Given the description of an element on the screen output the (x, y) to click on. 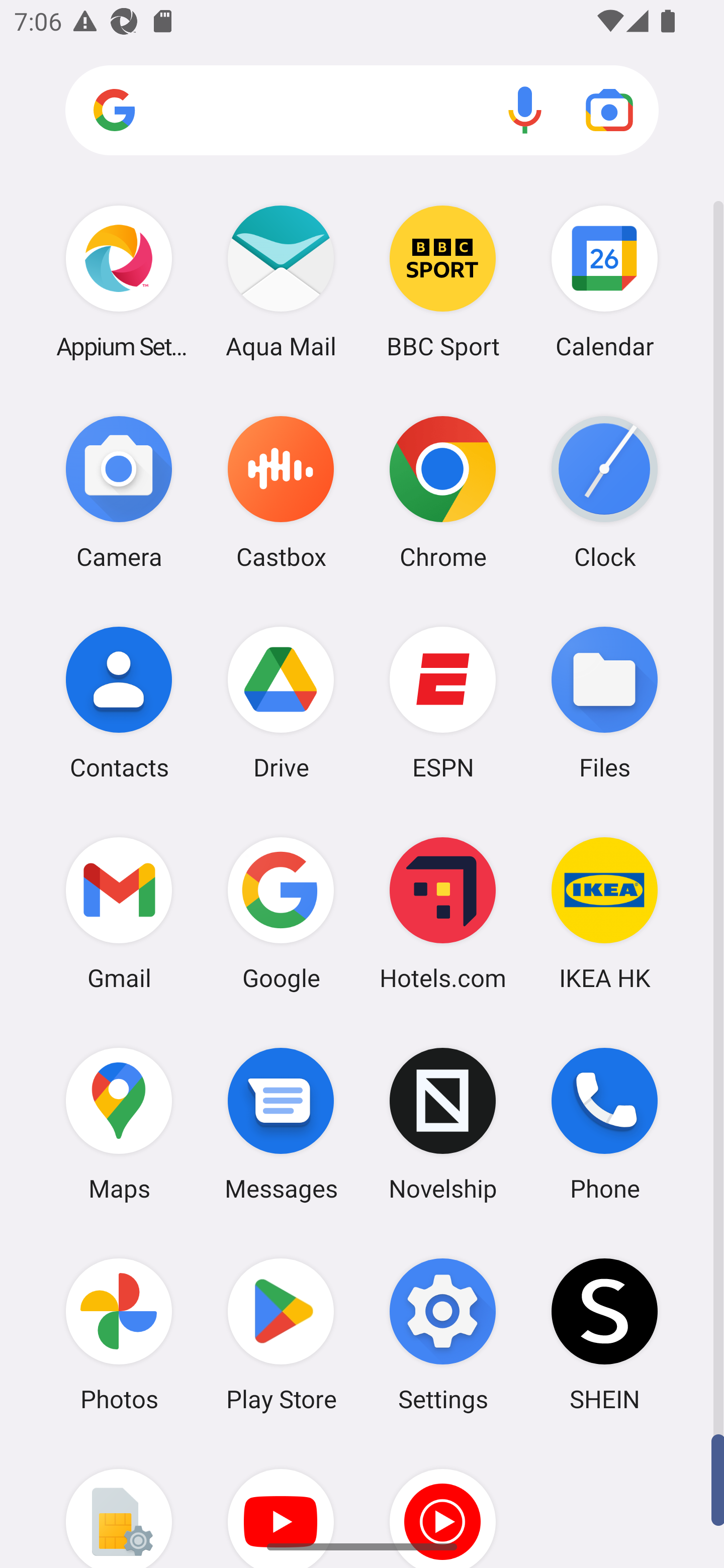
Search apps, web and more (361, 110)
Voice search (524, 109)
Google Lens (608, 109)
Appium Settings (118, 281)
Aqua Mail (280, 281)
BBC Sport (443, 281)
Calendar (604, 281)
Camera (118, 492)
Castbox (280, 492)
Chrome (443, 492)
Clock (604, 492)
Contacts (118, 702)
Drive (280, 702)
ESPN (443, 702)
Files (604, 702)
Gmail (118, 913)
Google (280, 913)
Hotels.com (443, 913)
IKEA HK (604, 913)
Maps (118, 1124)
Messages (280, 1124)
Novelship (443, 1124)
Phone (604, 1124)
Photos (118, 1334)
Play Store (280, 1334)
Settings (443, 1334)
SHEIN (604, 1334)
TMoble (118, 1503)
YouTube (280, 1503)
YT Music (443, 1503)
